Given the description of an element on the screen output the (x, y) to click on. 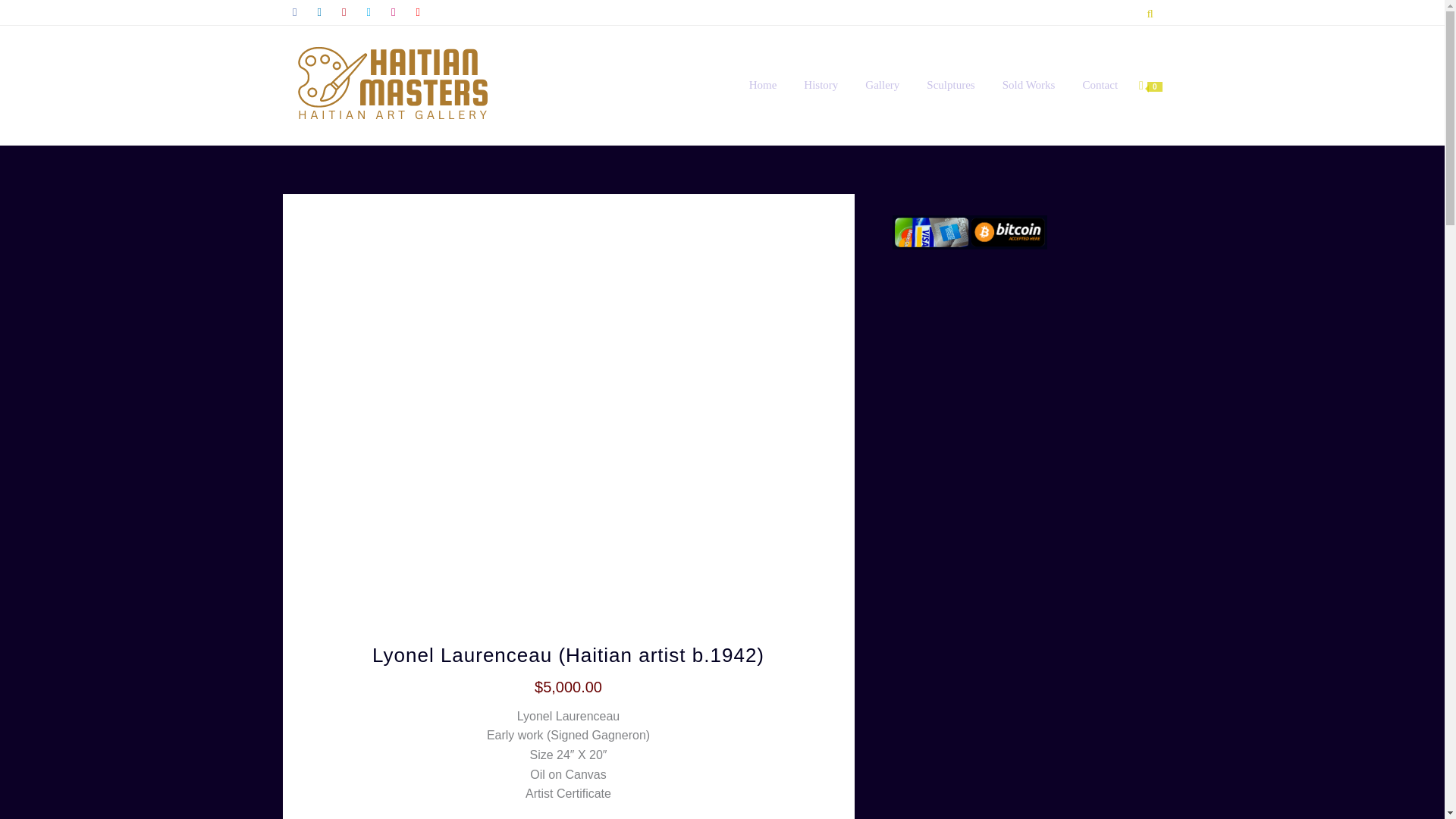
Home (762, 84)
0 (1149, 84)
Sold Works (1028, 84)
History (820, 84)
Gallery (881, 84)
Sculptures (950, 84)
Contact (1099, 84)
